Given the description of an element on the screen output the (x, y) to click on. 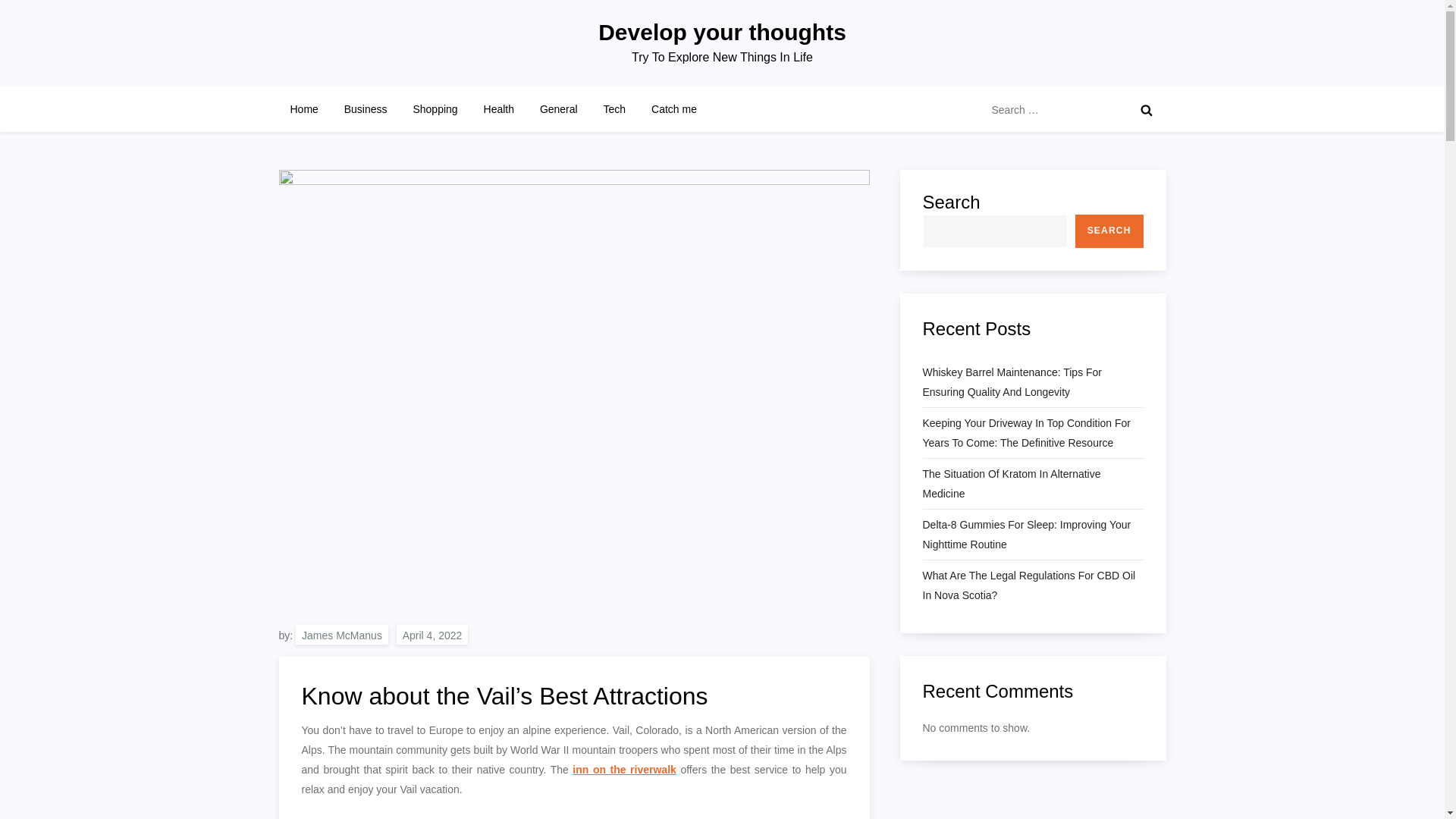
Business (365, 108)
Home (304, 108)
The Situation Of Kratom In Alternative Medicine (1031, 483)
SEARCH (1108, 231)
Health (498, 108)
What Are The Legal Regulations For CBD Oil In Nova Scotia? (1031, 585)
Delta-8 Gummies For Sleep: Improving Your Nighttime Routine (1031, 534)
Tech (614, 108)
